Given the description of an element on the screen output the (x, y) to click on. 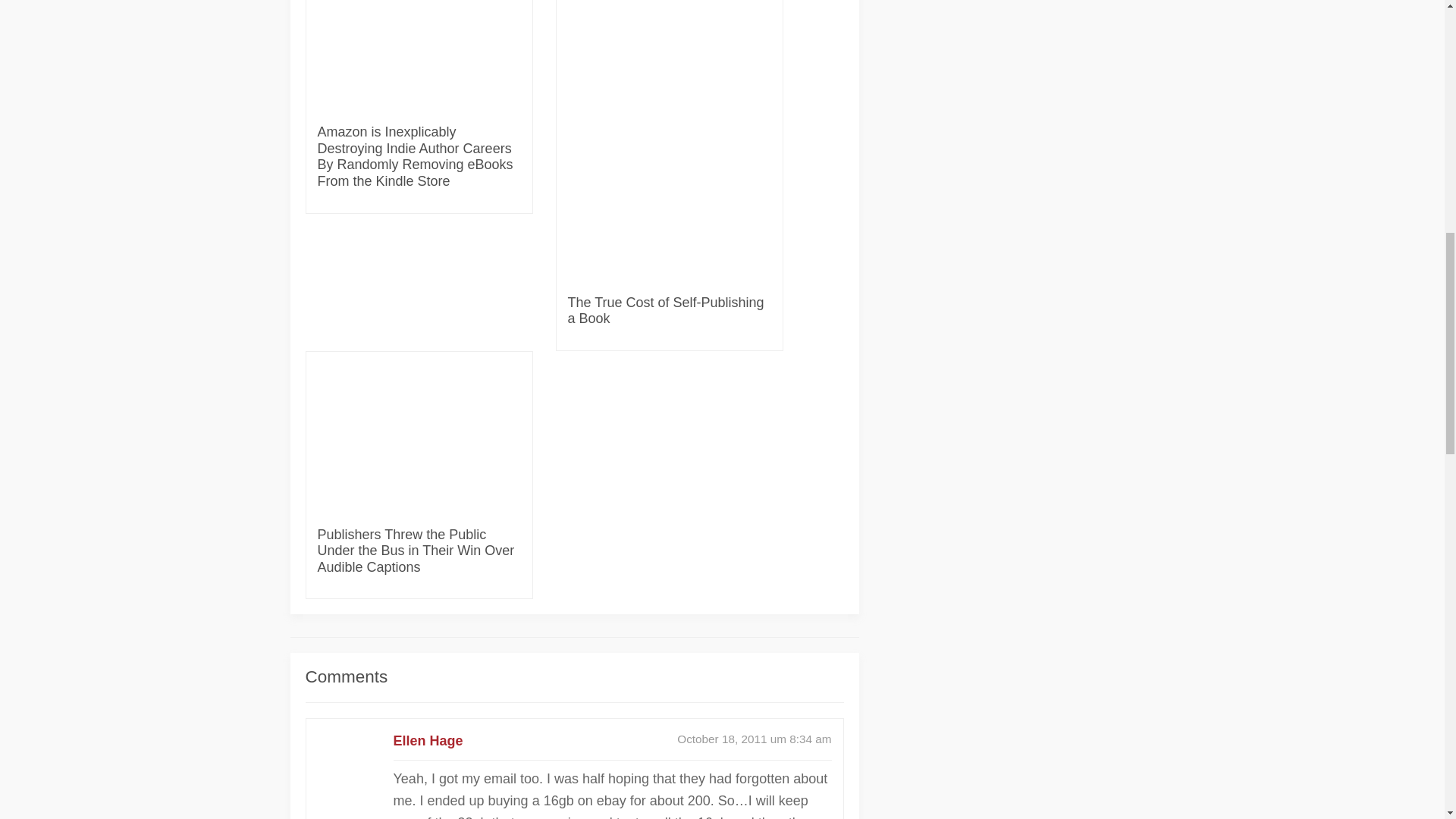
The True Cost of Self-Publishing a Book (668, 310)
The True Cost of Self-Publishing a Book (668, 310)
